Given the description of an element on the screen output the (x, y) to click on. 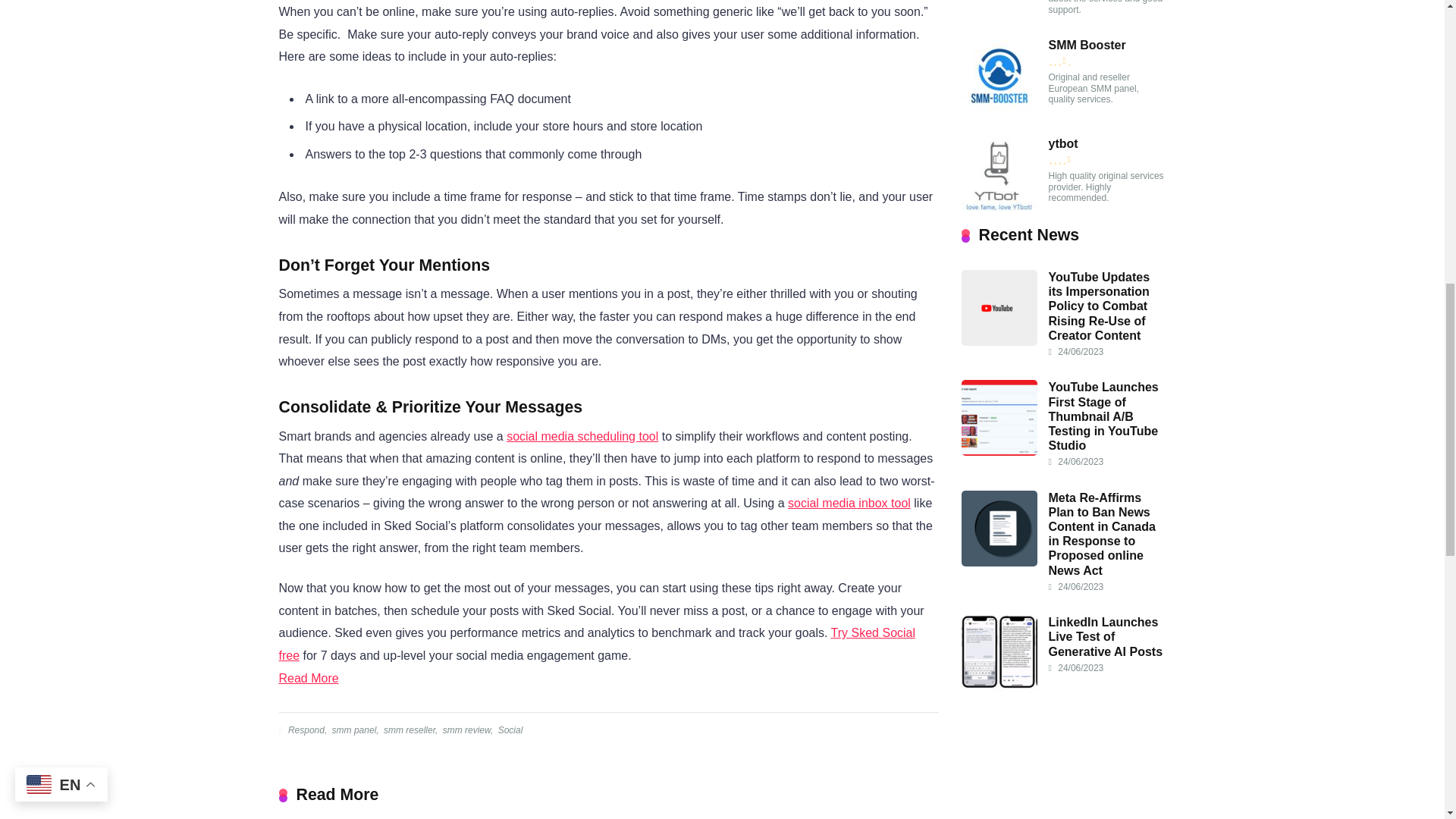
smm panel (353, 729)
SMM Booster (998, 109)
social media inbox tool (849, 502)
smm reseller (408, 729)
Respond (304, 729)
Read More (309, 677)
social media scheduling tool (582, 436)
SMM Booster (1086, 45)
Try Sked Social free (597, 643)
Social (509, 729)
smm review (465, 729)
